Given the description of an element on the screen output the (x, y) to click on. 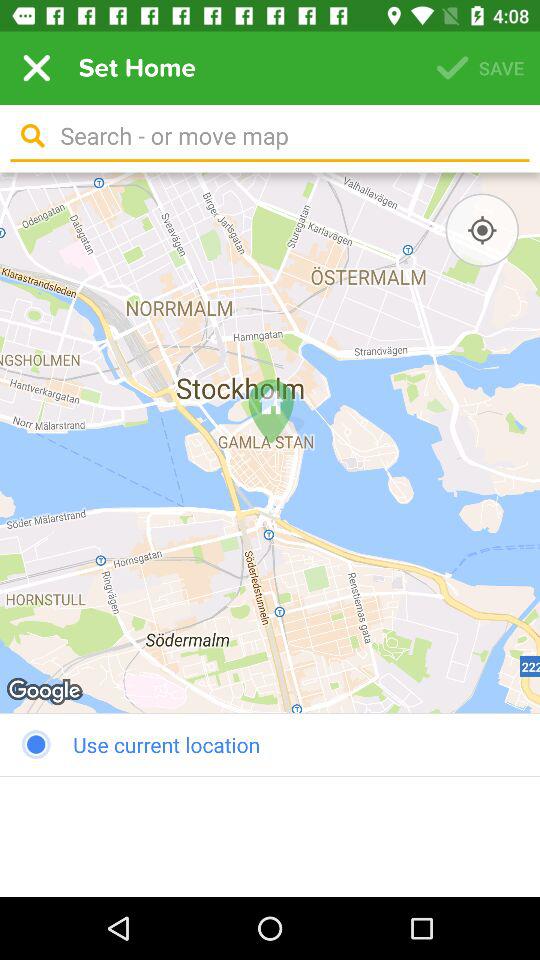
turn off the item next to set home (36, 68)
